Given the description of an element on the screen output the (x, y) to click on. 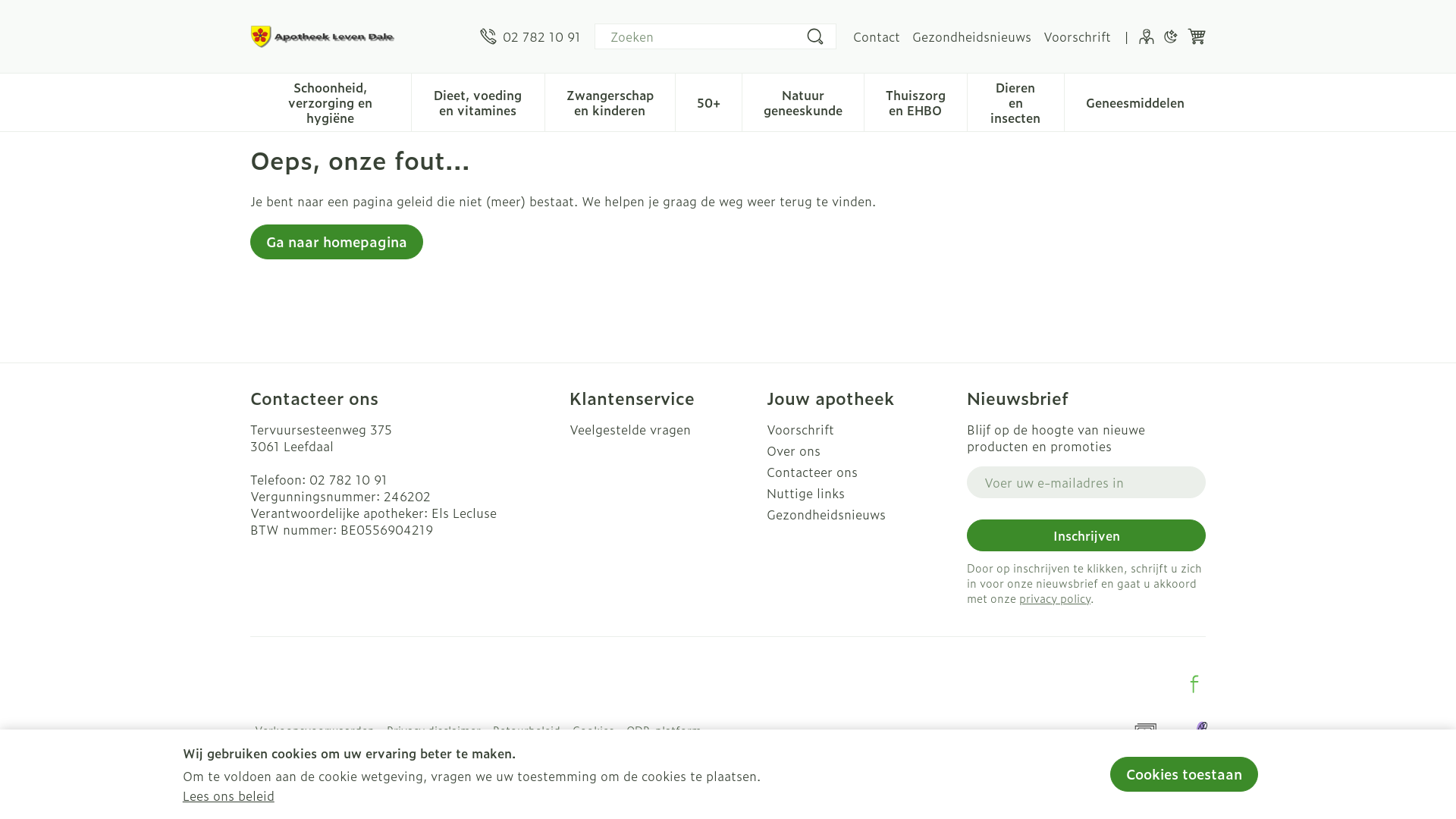
privacy policy Element type: text (1054, 597)
Dieren en insecten Element type: text (1015, 100)
Veelgestelde vragen Element type: text (662, 428)
Retourbeleid Element type: text (526, 729)
Voorschrift Element type: text (1076, 36)
Nuttige links Element type: text (860, 492)
02 782 10 91 Element type: text (530, 36)
Dieet, voeding en vitamines Element type: text (477, 100)
Contacteer ons Element type: text (860, 471)
Zoeken Element type: text (815, 36)
Verkoopsvoorwaarden Element type: text (314, 729)
Voorschrift Element type: text (860, 428)
Cookies Element type: text (593, 729)
Cookies toestaan Element type: text (1184, 773)
Apotheek Leven Dale Element type: hover (358, 36)
Privacy disclaimer Element type: text (433, 729)
Inschrijven Element type: text (1085, 535)
Natuur geneeskunde Element type: text (802, 100)
Facebook Element type: hover (1194, 683)
Geneesmiddelen Element type: text (1134, 100)
Klant menu Element type: text (1146, 35)
Lees ons beleid Element type: text (228, 795)
Over ons Element type: text (860, 450)
Gezondheidsnieuws Element type: text (971, 36)
02 782 10 91 Element type: text (348, 479)
Zwangerschap en kinderen Element type: text (609, 100)
ODR-platform Element type: text (663, 729)
Ga naar homepagina Element type: text (336, 241)
Thuiszorg en EHBO Element type: text (915, 100)
Winkelwagen Element type: text (1196, 36)
Donkere modus Element type: text (1170, 35)
Gezondheidsnieuws Element type: text (860, 513)
Contact Element type: text (876, 36)
50+ Element type: text (708, 100)
Apotheek Leven Dale Element type: hover (325, 36)
